Given the description of an element on the screen output the (x, y) to click on. 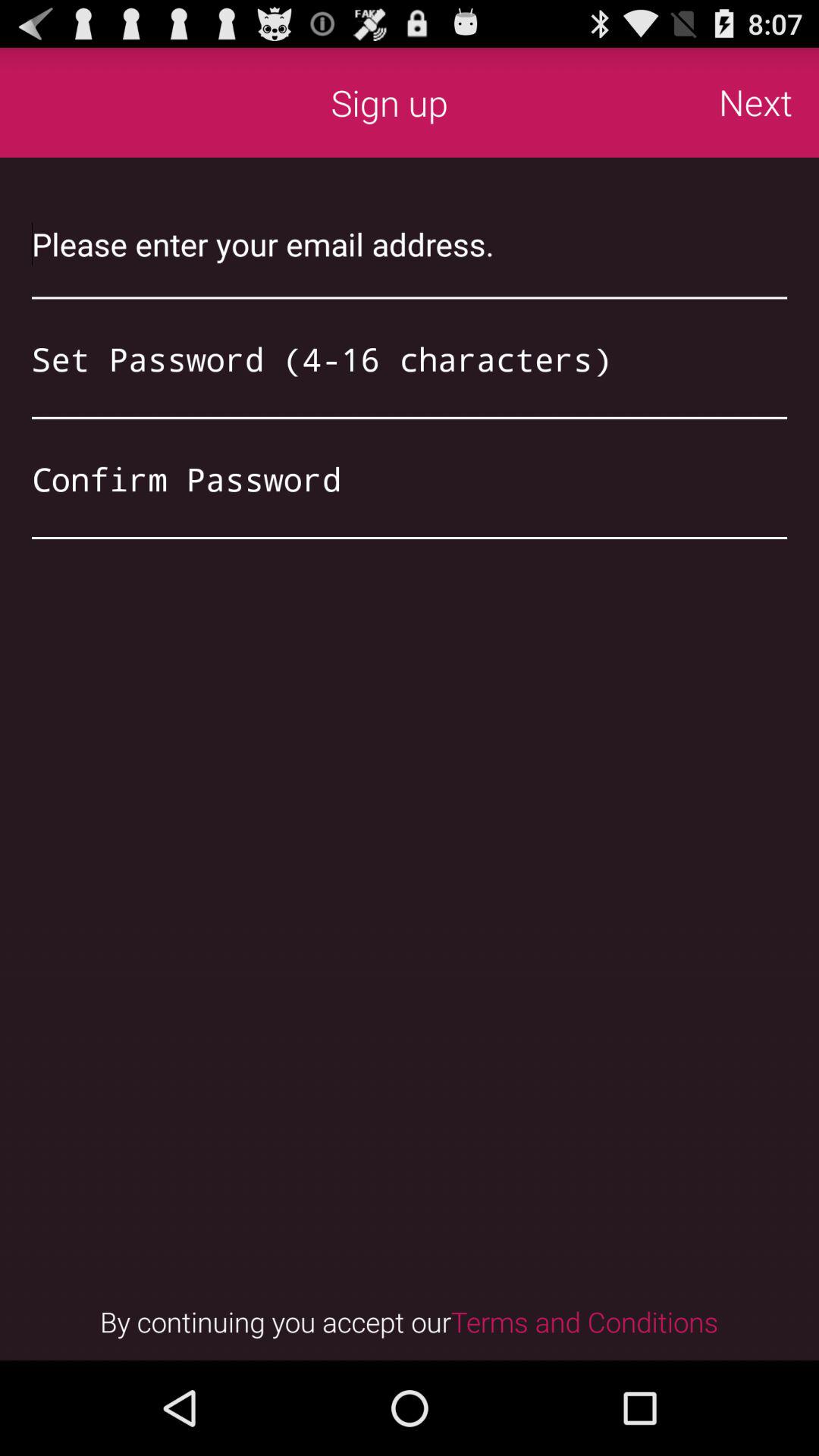
enter a new password (409, 358)
